Given the description of an element on the screen output the (x, y) to click on. 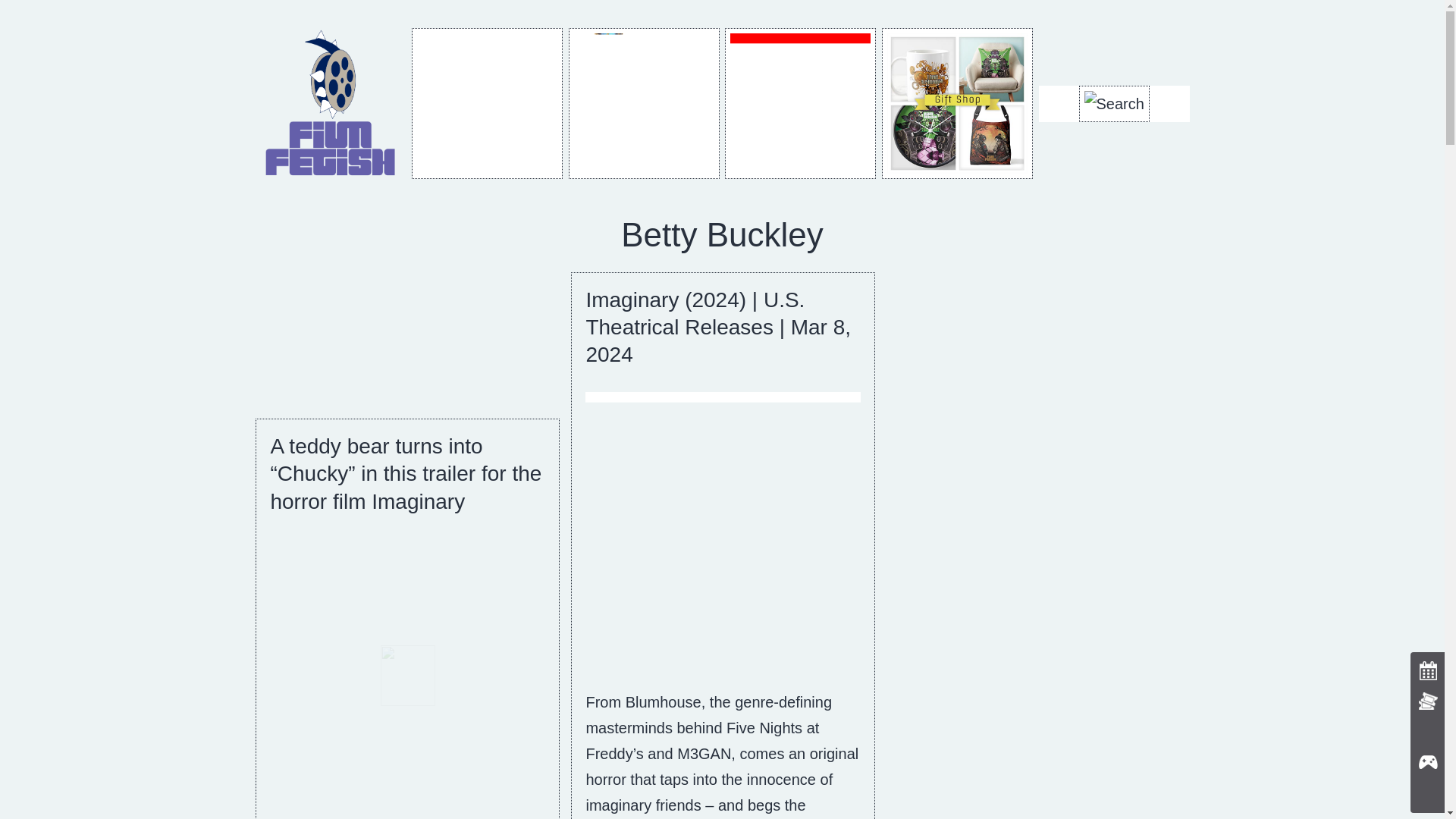
Fan Calendar (487, 103)
Crush Collectibles (800, 103)
Film Fetish Home (330, 103)
Home (330, 102)
Film Fetish Official Shop (957, 103)
Search (1113, 103)
Con Coupons (644, 103)
